Given the description of an element on the screen output the (x, y) to click on. 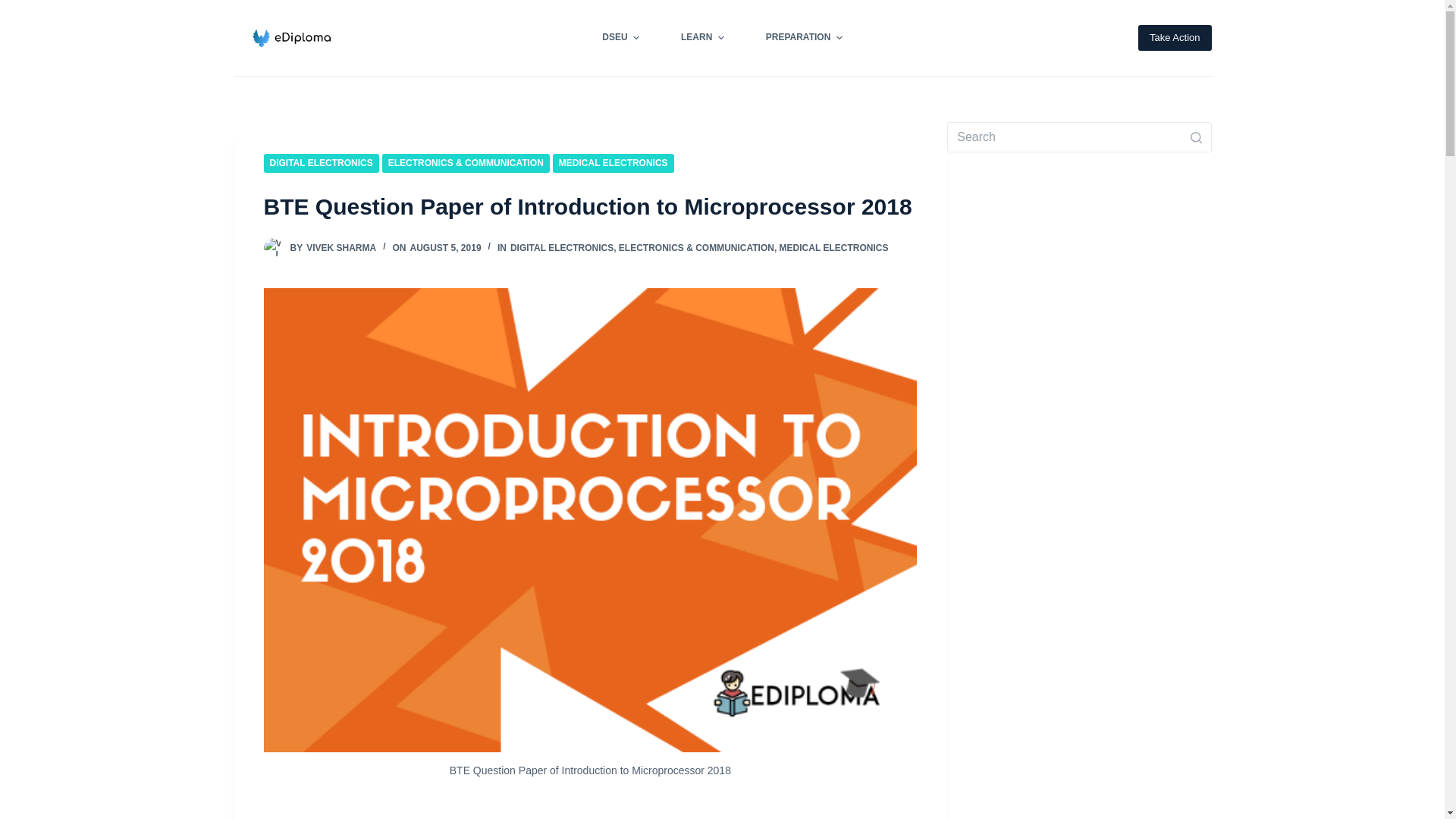
BTE Question Paper of Introduction to Microprocessor 2018 (590, 206)
Skip to content (15, 7)
DSEU (620, 38)
Posts by Vivek Sharma (340, 247)
Search for... (1079, 137)
